Given the description of an element on the screen output the (x, y) to click on. 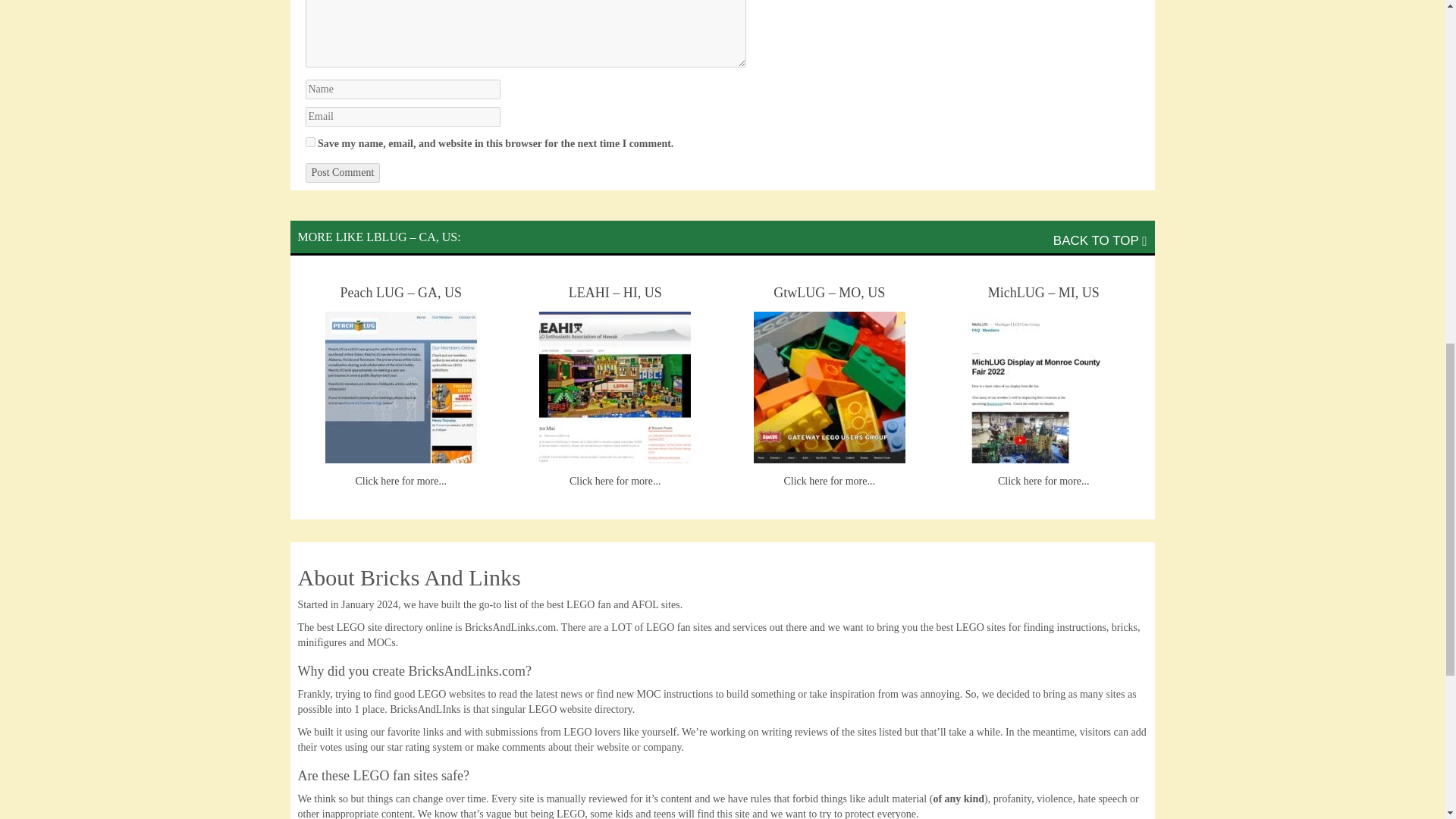
Peach LUG - GA, US 1 (400, 387)
MichLUG - MI, US 4 (1043, 387)
GtwLUG - MO, US 3 (829, 387)
Click here for more... (400, 480)
Post Comment (342, 172)
Click here for more... (1043, 480)
LEAHI - HI, US 2 (614, 387)
yes (309, 142)
BACK TO TOP (1099, 240)
Click here for more... (829, 480)
